Given the description of an element on the screen output the (x, y) to click on. 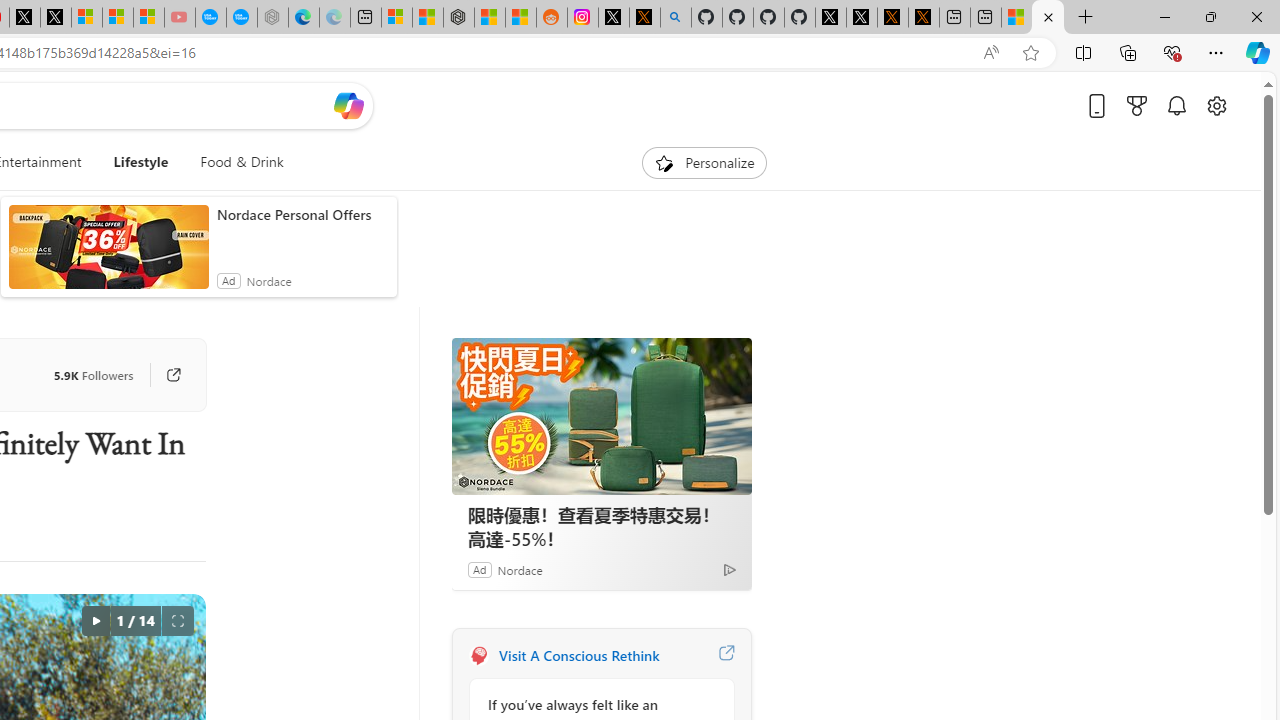
Food & Drink (241, 162)
Open settings (1216, 105)
Nordace - Duffels (458, 17)
autorotate button (95, 620)
Nordace Personal Offers (302, 214)
Opinion: Op-Ed and Commentary - USA TODAY (210, 17)
